Given the description of an element on the screen output the (x, y) to click on. 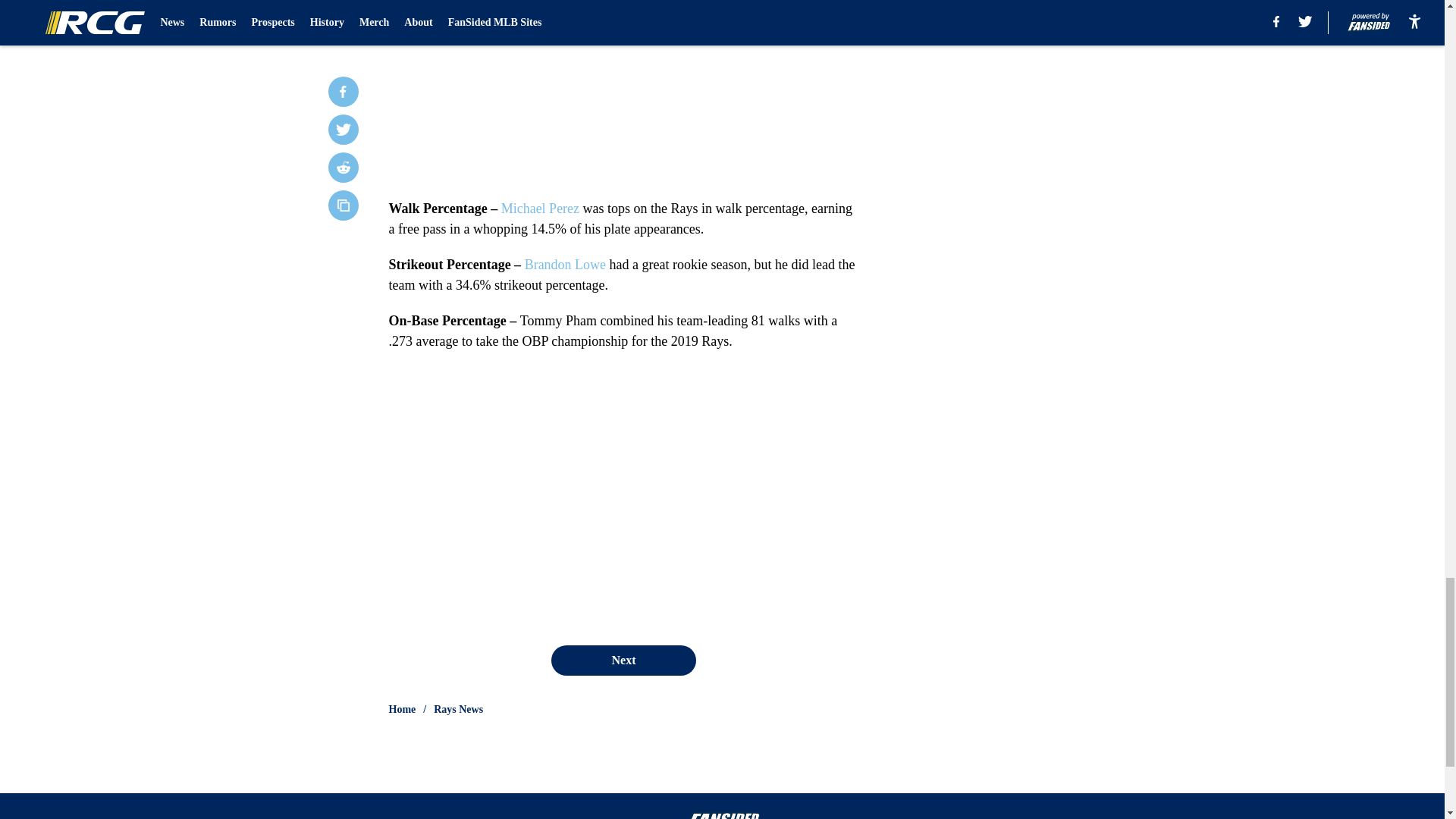
Brandon Lowe (564, 264)
Home (401, 709)
Rays News (458, 709)
Next (622, 660)
Michael Perez (539, 208)
